Given the description of an element on the screen output the (x, y) to click on. 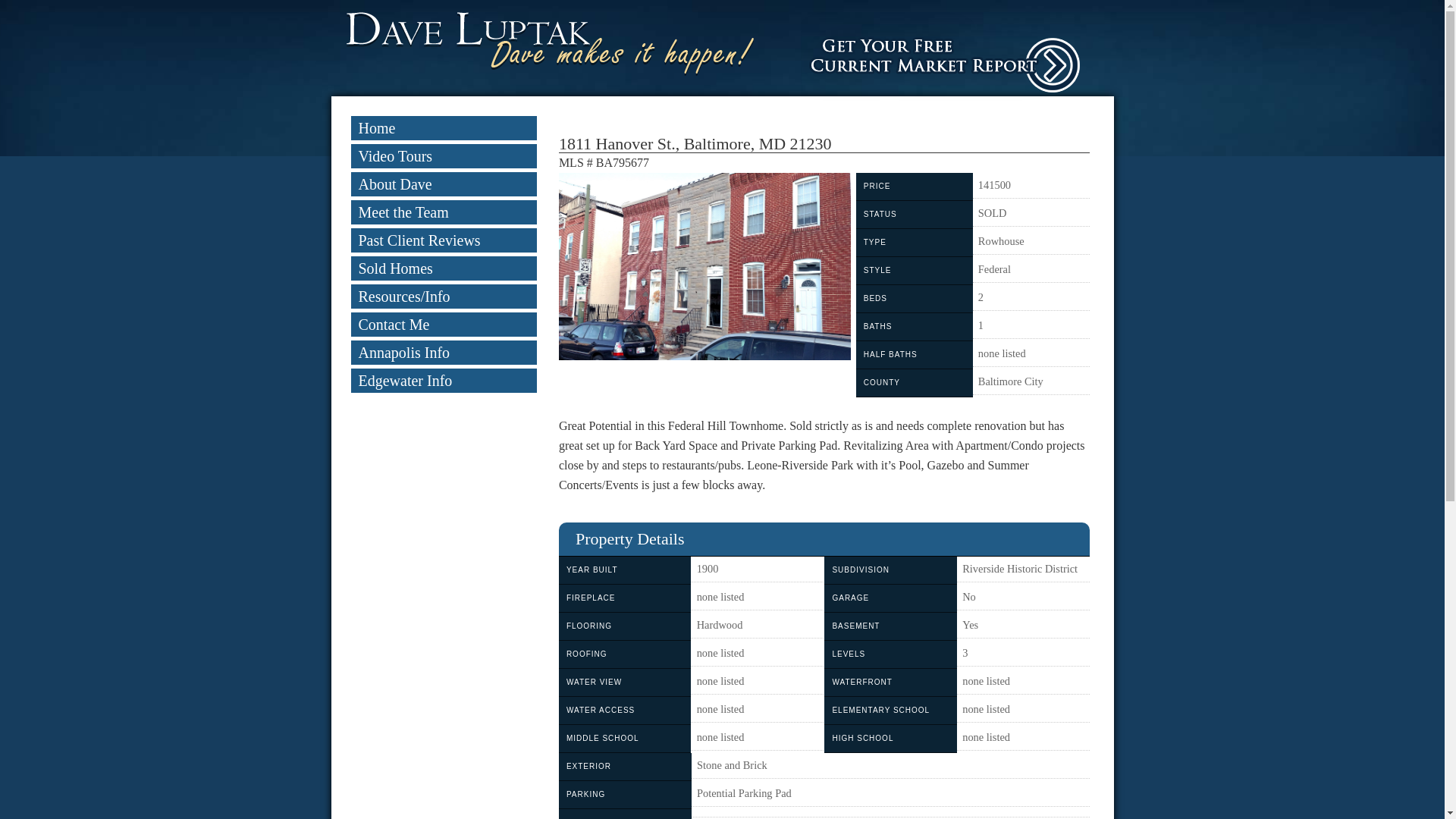
Contact Me (442, 324)
Video Tours (442, 156)
Dave Luptak - Dave makes it happen! (550, 44)
Get your free current market report (956, 56)
Edgewater Info (442, 380)
2016 10 22 1811 S Hanover St. Front Of House (704, 266)
Past Client Reviews (442, 240)
About Dave (442, 183)
Annapolis Info (442, 352)
Sold Homes (442, 268)
